Given the description of an element on the screen output the (x, y) to click on. 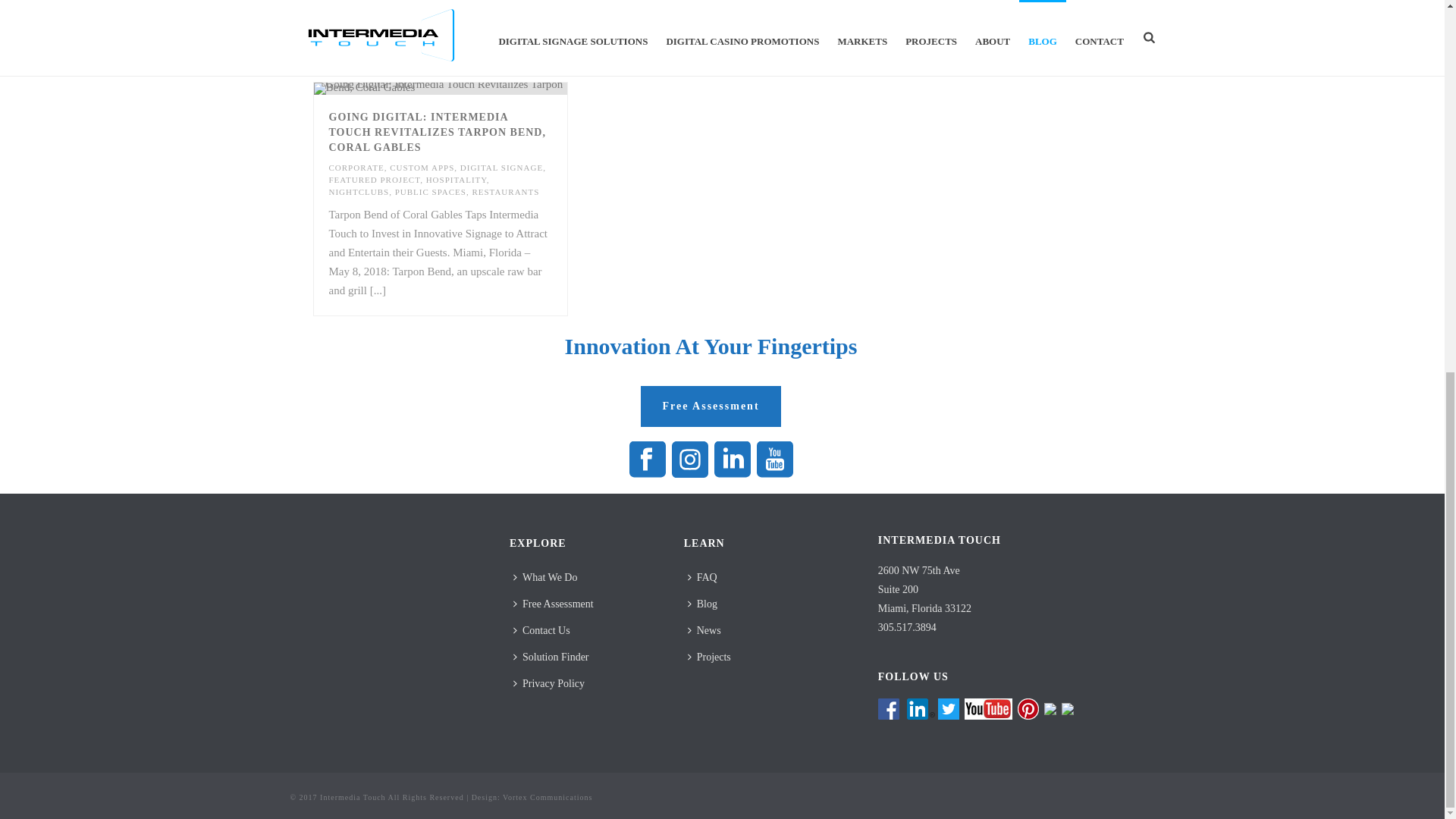
Free Assessment (710, 405)
